Given the description of an element on the screen output the (x, y) to click on. 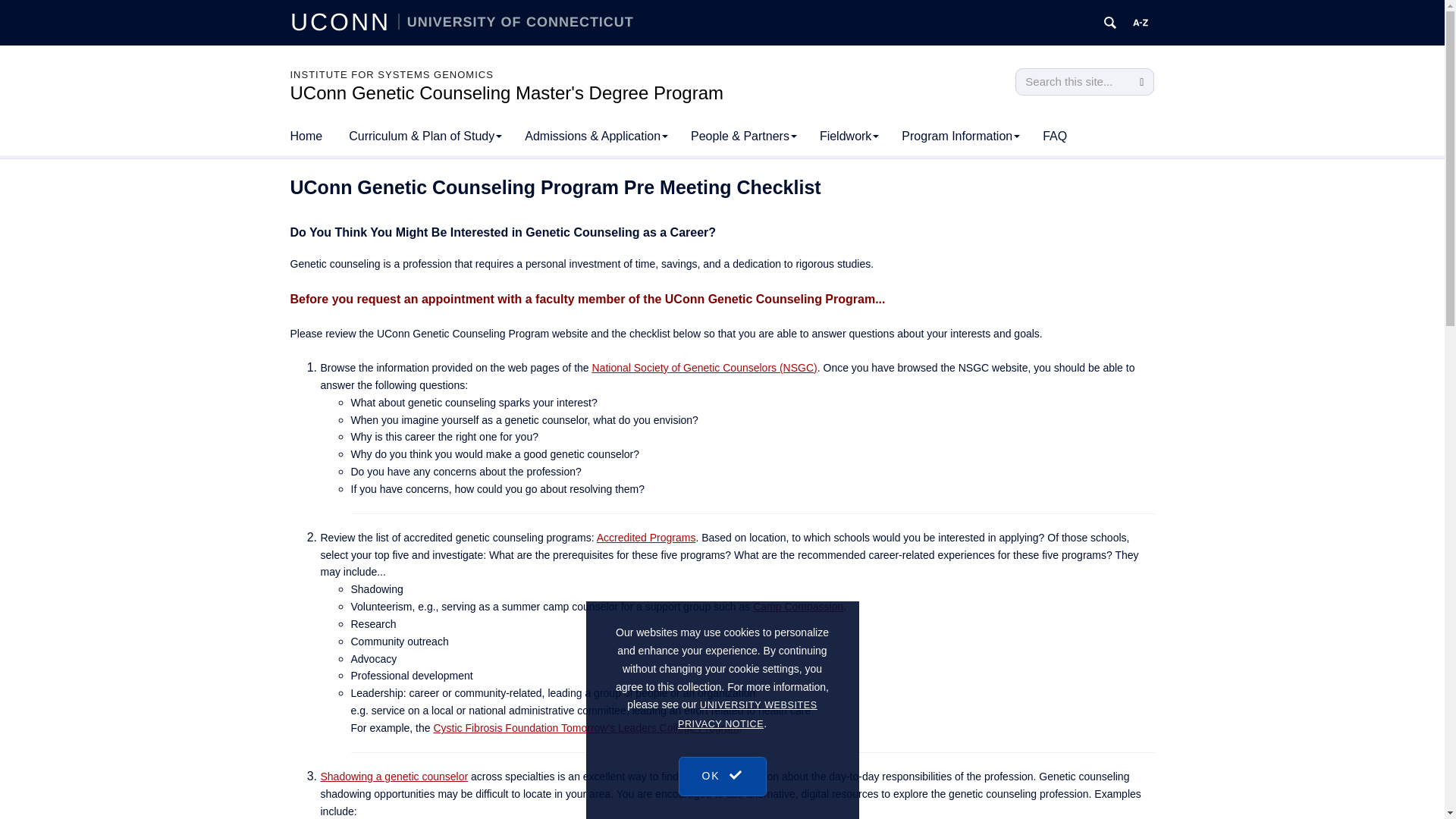
Search (1141, 81)
Home (306, 136)
Search (1141, 81)
UNIVERSITY WEBSITES PRIVACY NOTICE (747, 788)
UNIVERSITY OF CONNECTICUT (515, 21)
Search this site...  (1072, 81)
Search UConn (1109, 22)
UCONN (343, 21)
INSTITUTE FOR SYSTEMS GENOMICS (391, 74)
UConn Genetic Counseling Master's Degree Program (506, 92)
UConn A to Z Index (1140, 22)
